Given the description of an element on the screen output the (x, y) to click on. 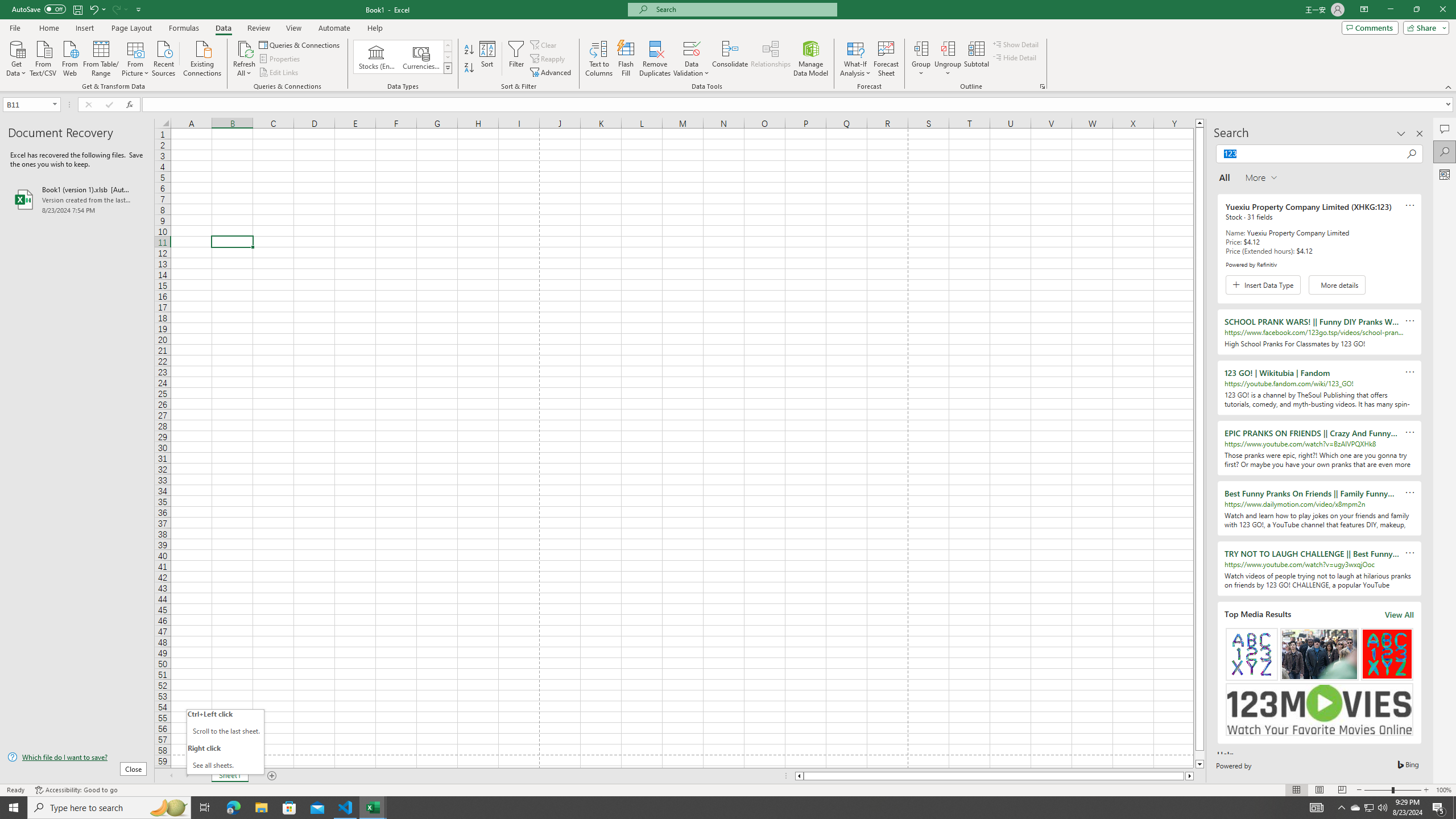
Consolidate... (729, 58)
